Given the description of an element on the screen output the (x, y) to click on. 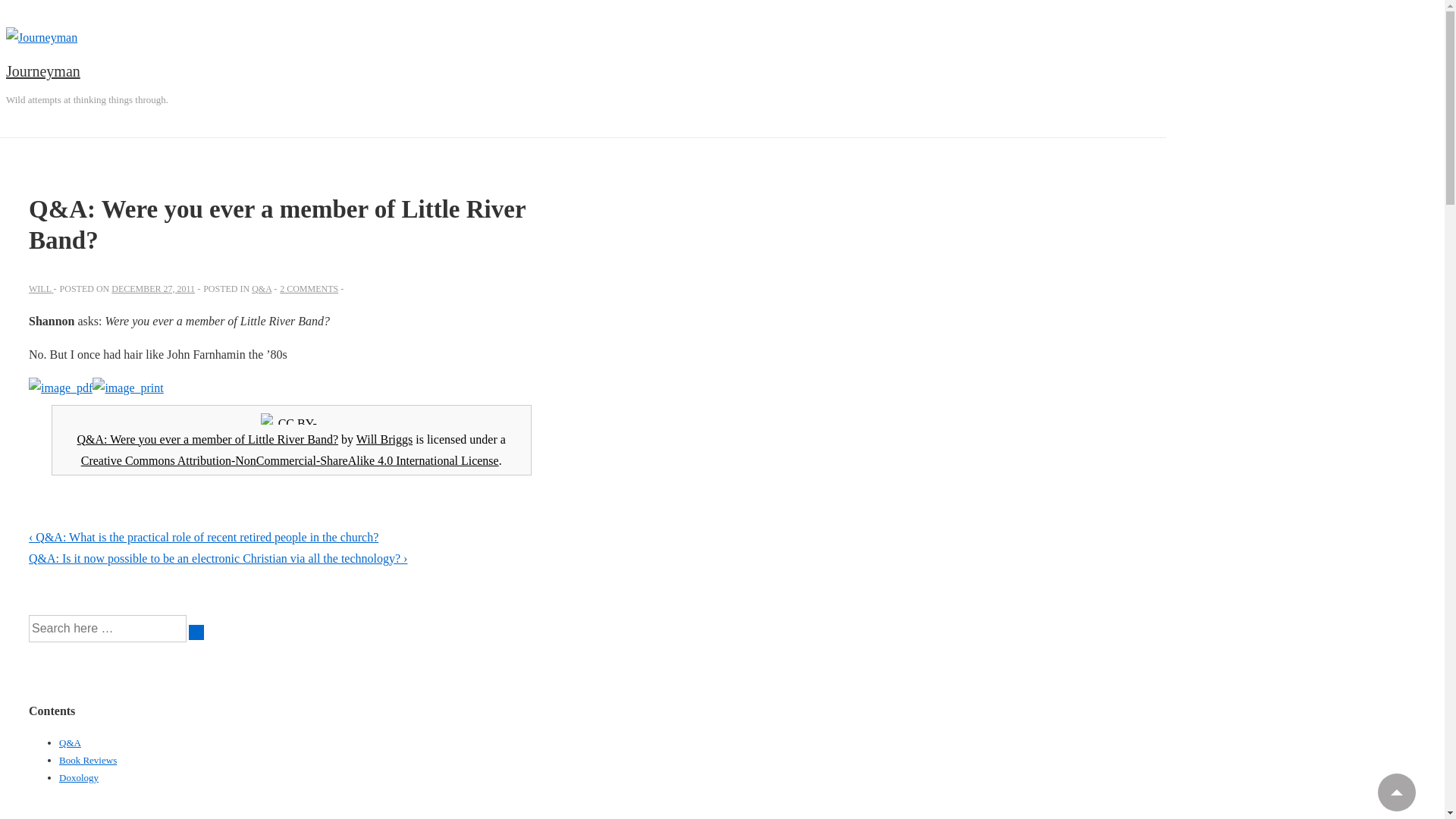
Q&A Element type: text (261, 288)
2 COMMENTS Element type: text (308, 288)
DECEMBER 27, 2011 Element type: text (152, 288)
Q&A Element type: text (70, 742)
Doxology Element type: text (78, 777)
Will Briggs Element type: text (384, 438)
Search Element type: text (195, 632)
Journeyman Element type: text (43, 70)
View PDF Element type: hover (60, 387)
WILL Element type: text (40, 288)
Q&A: Were you ever a member of Little River Band? Element type: text (207, 438)
Print Content Element type: hover (127, 387)
Book Reviews Element type: text (87, 759)
